Given the description of an element on the screen output the (x, y) to click on. 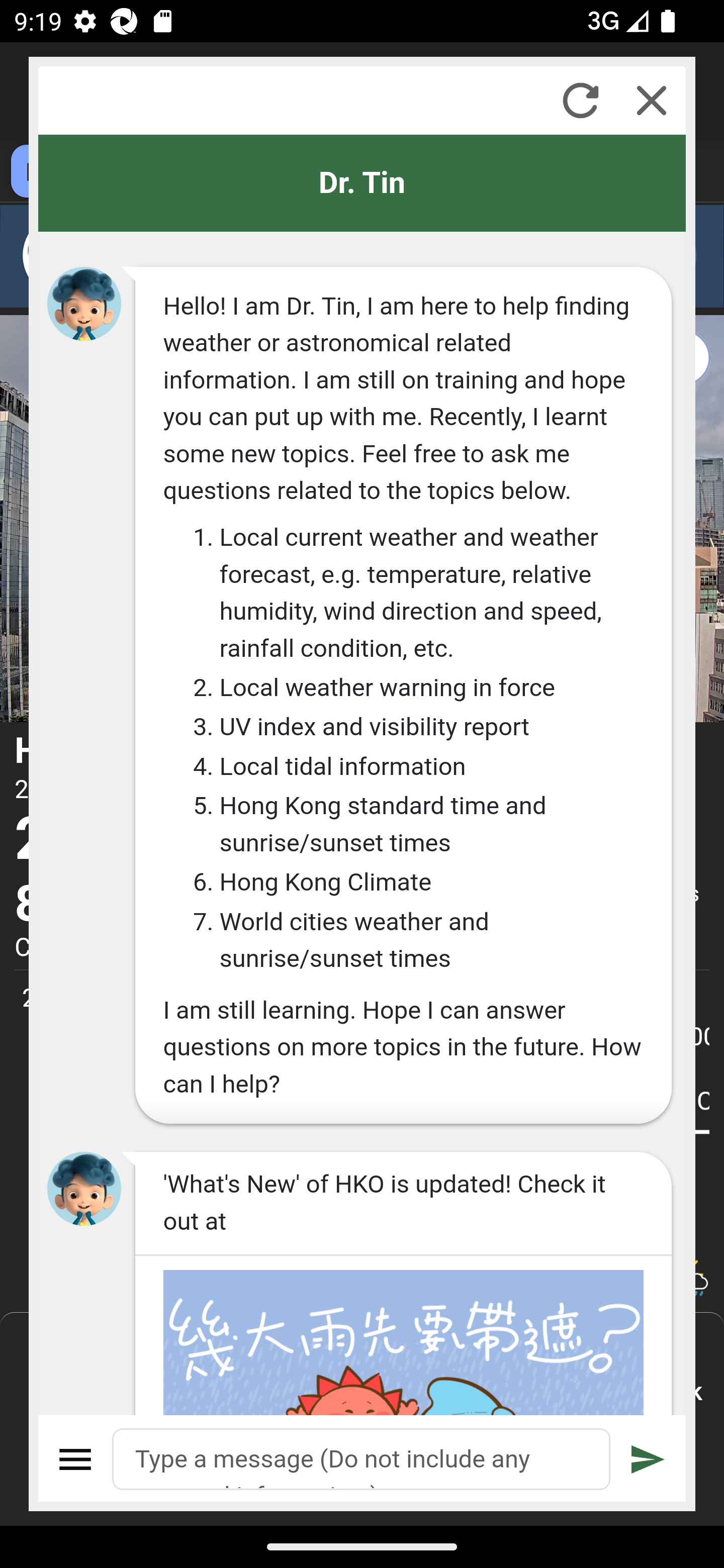
Refresh (580, 100)
Close (651, 100)
Menu (75, 1458)
Submit (648, 1458)
